Given the description of an element on the screen output the (x, y) to click on. 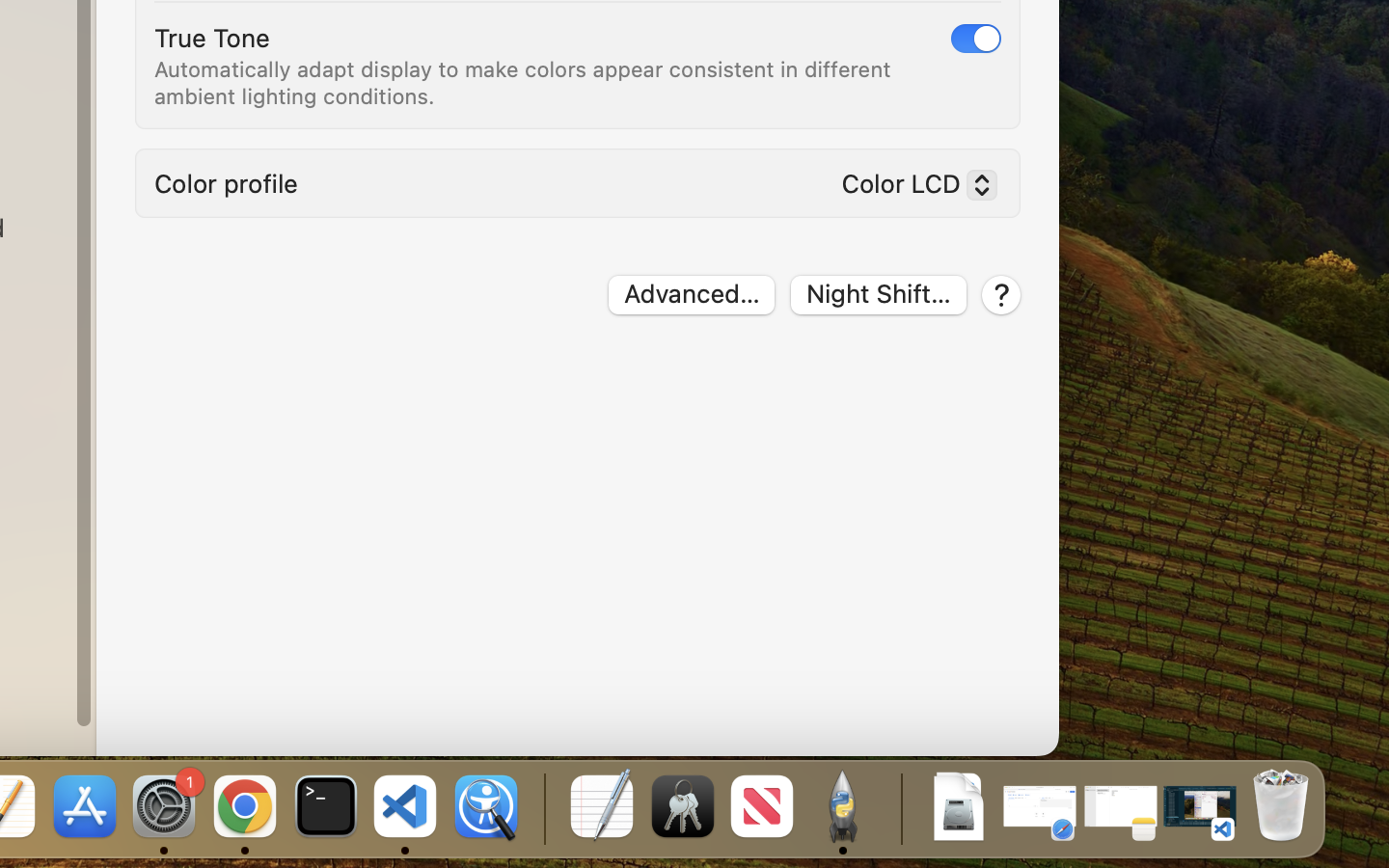
True Tone Element type: AXStaticText (212, 36)
